Given the description of an element on the screen output the (x, y) to click on. 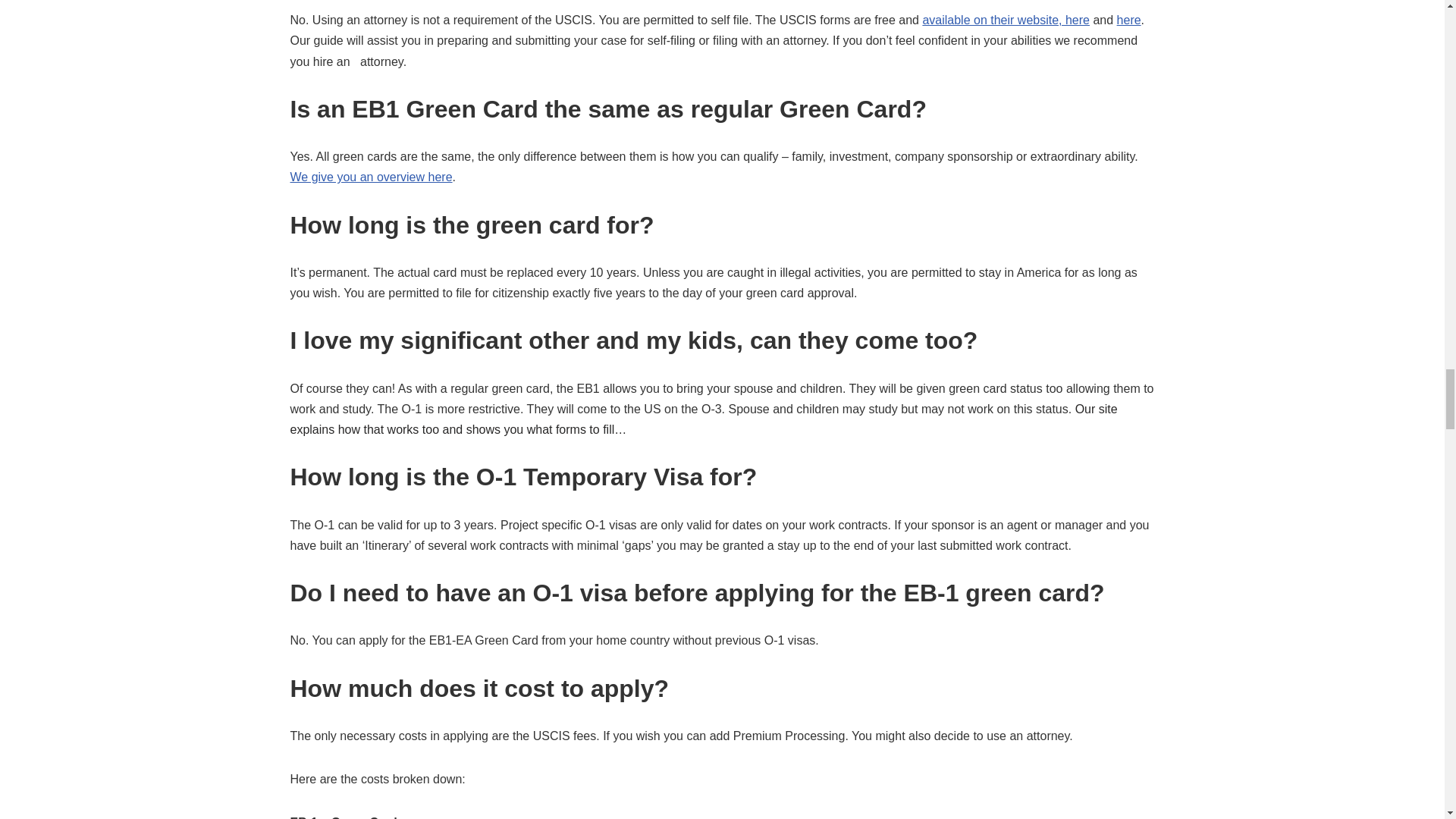
available on their website, here (1005, 19)
here (1128, 19)
We give you an overview here (370, 176)
